Given the description of an element on the screen output the (x, y) to click on. 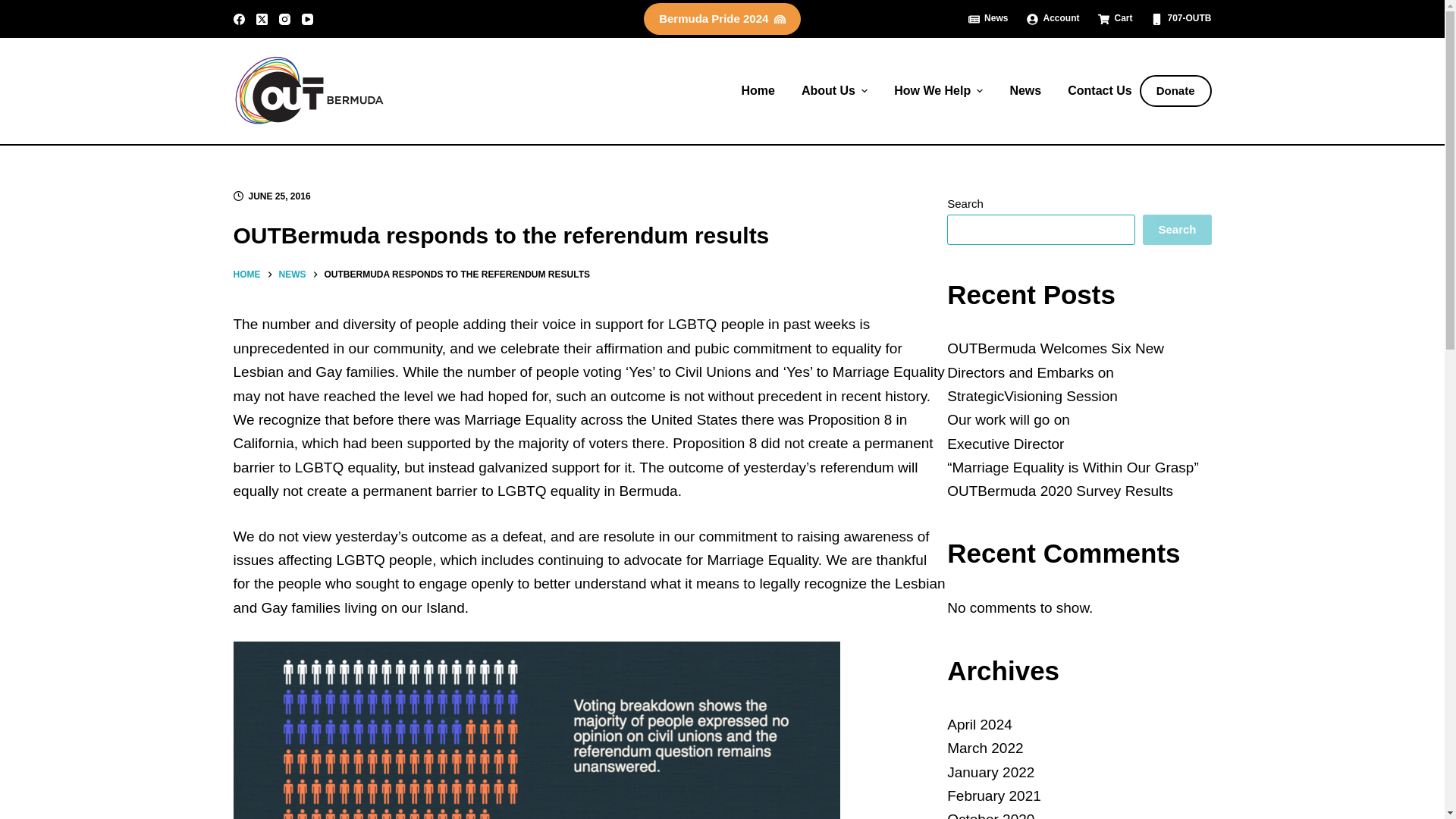
News (992, 18)
Bermuda Pride 2024 (721, 19)
Account (1053, 18)
Cart (1115, 18)
Skip to content (15, 7)
707-OUTB (1176, 18)
OUTBermuda responds to the referendum results (589, 235)
How We Help (937, 90)
